Given the description of an element on the screen output the (x, y) to click on. 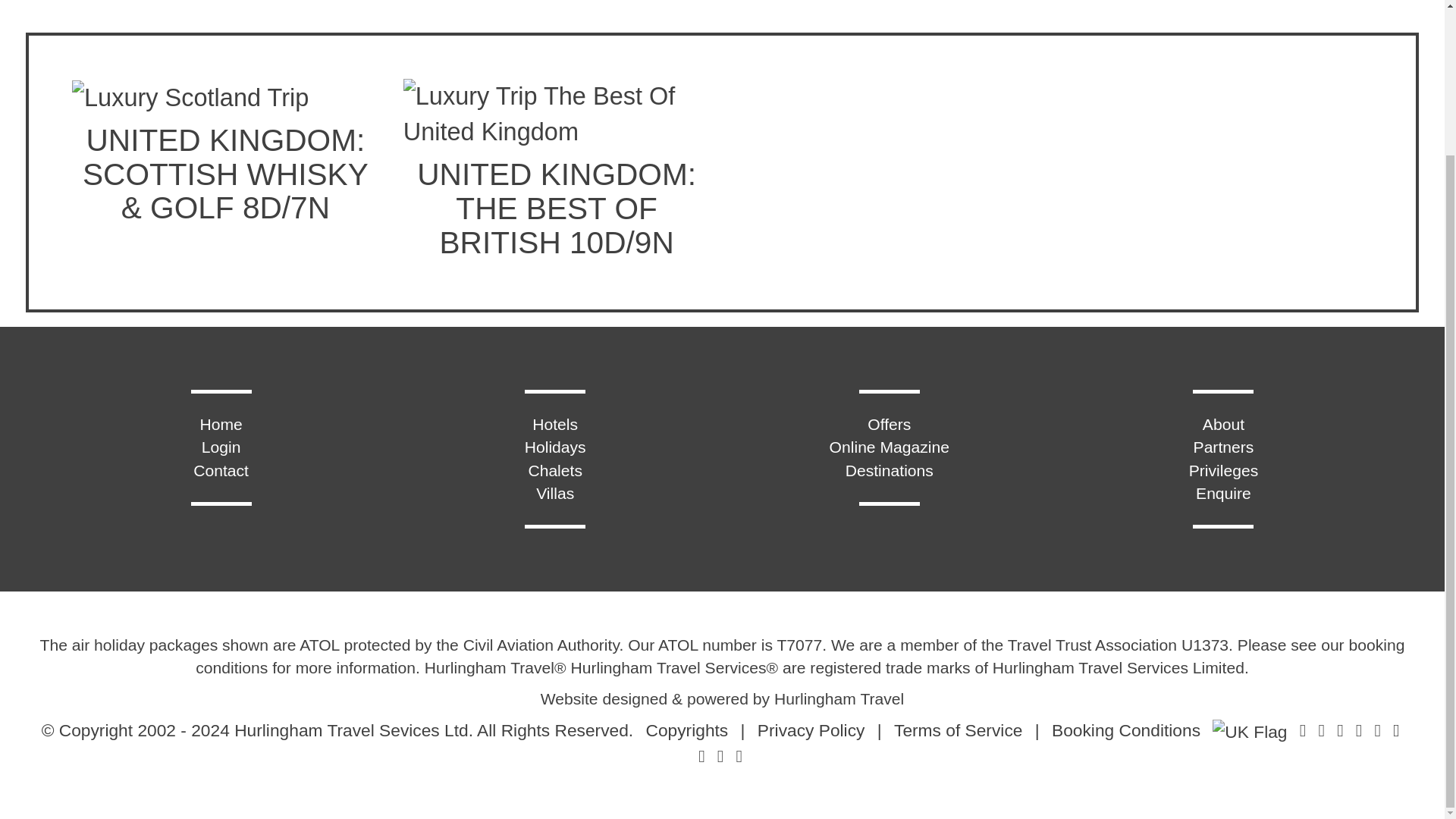
Login (221, 446)
Home (220, 424)
